Given the description of an element on the screen output the (x, y) to click on. 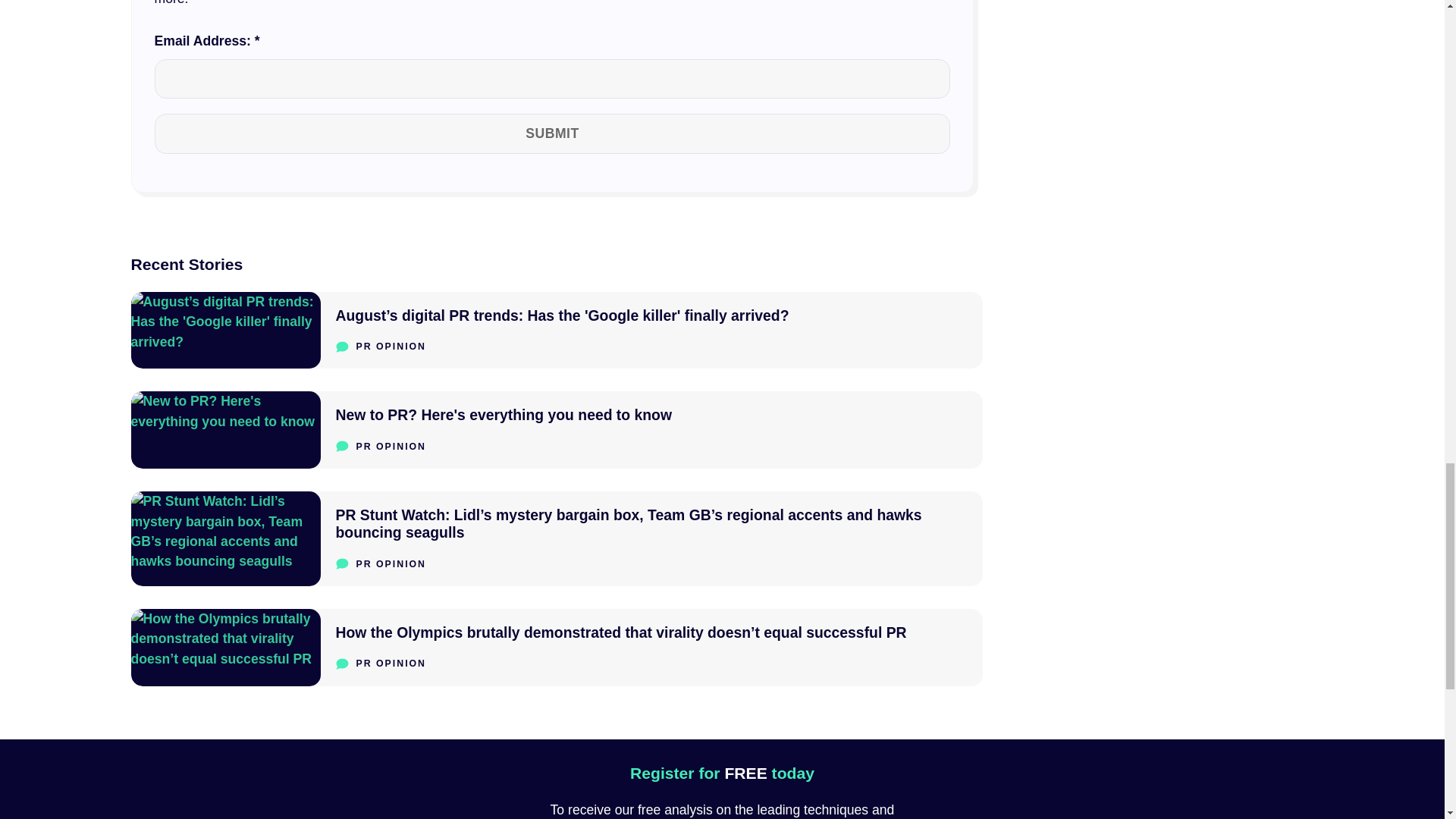
SUBMIT (556, 429)
SUBMIT (552, 133)
